Given the description of an element on the screen output the (x, y) to click on. 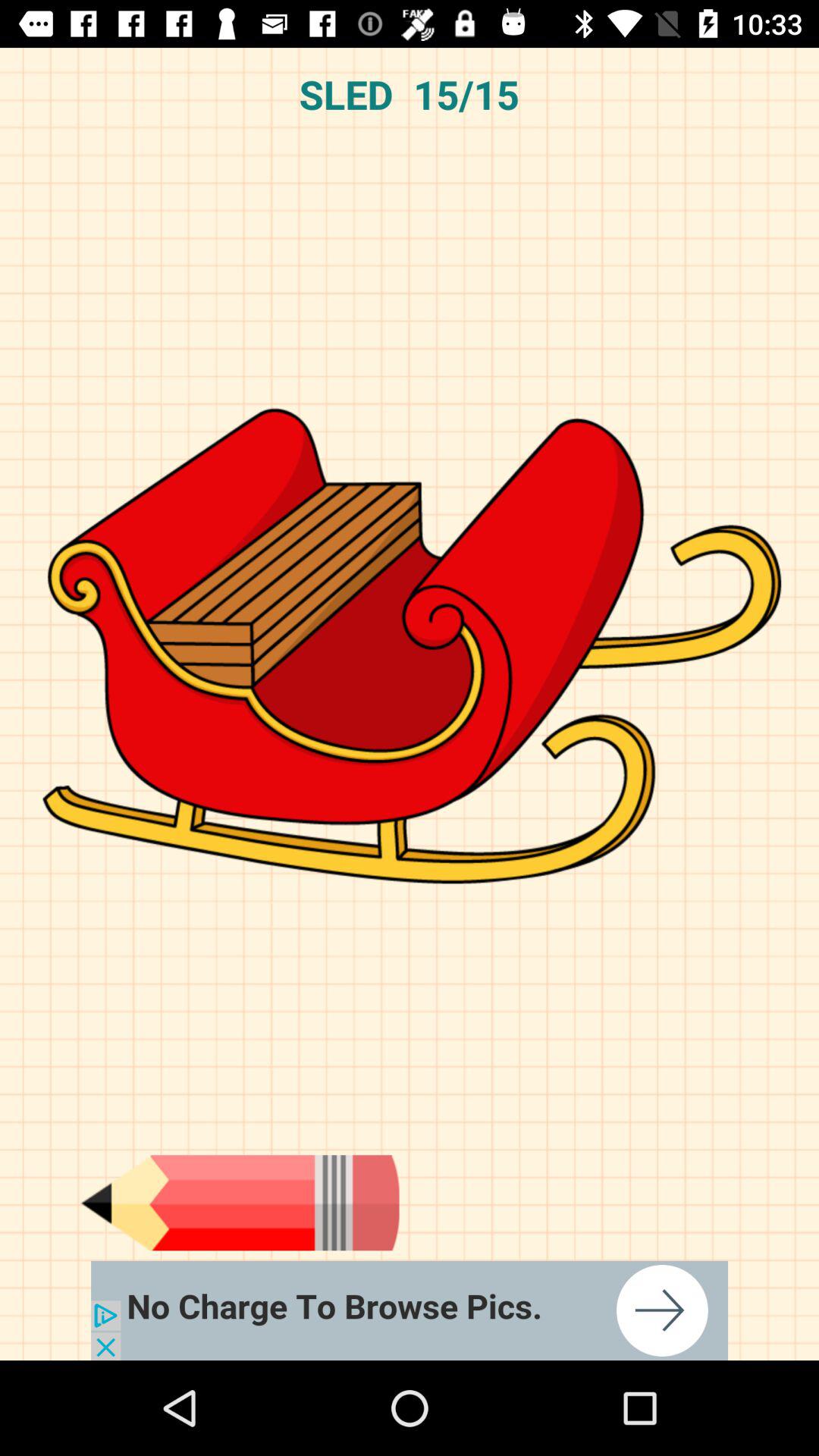
advertisement page (409, 1310)
